Given the description of an element on the screen output the (x, y) to click on. 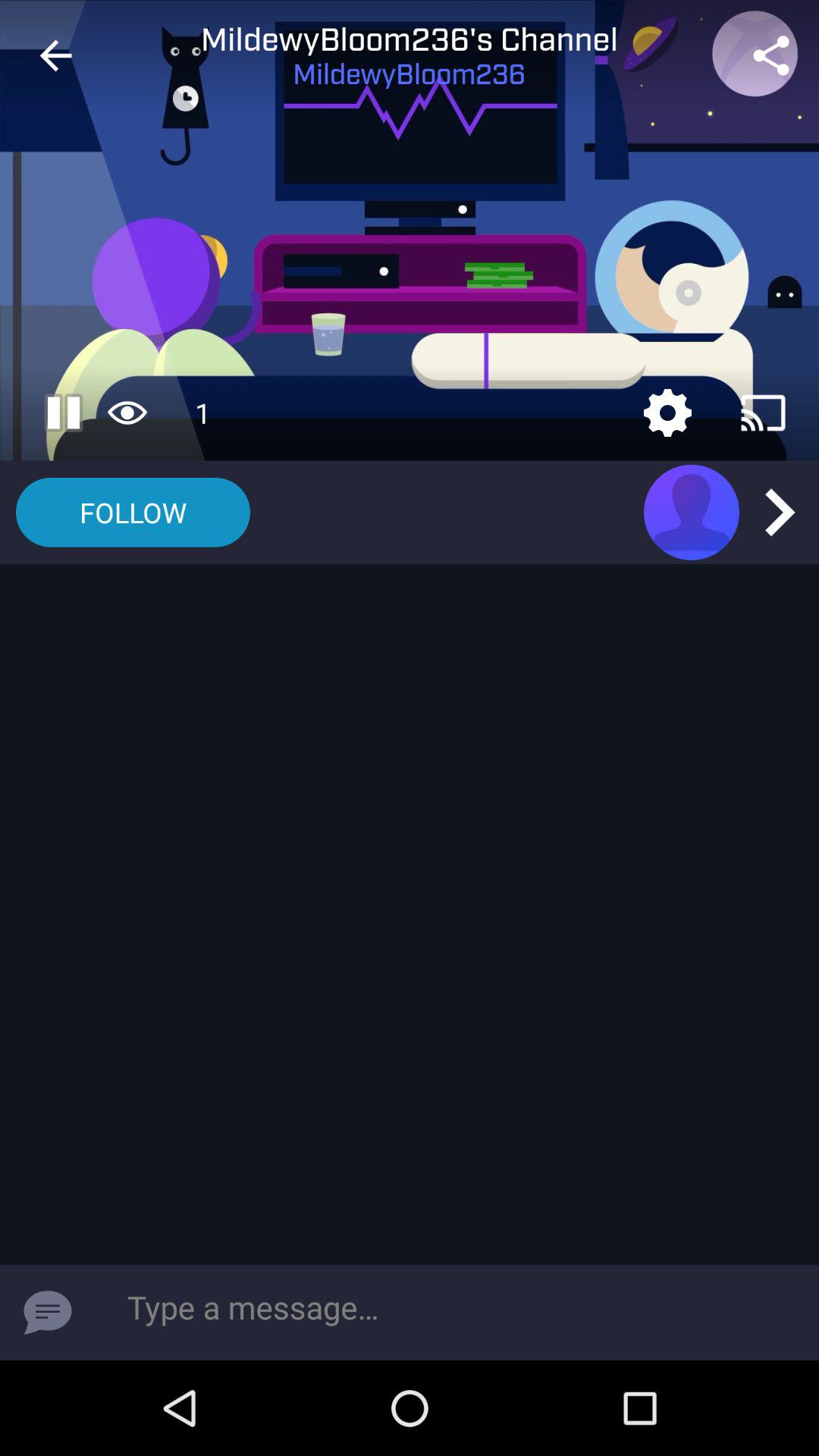
open user page (691, 512)
